Given the description of an element on the screen output the (x, y) to click on. 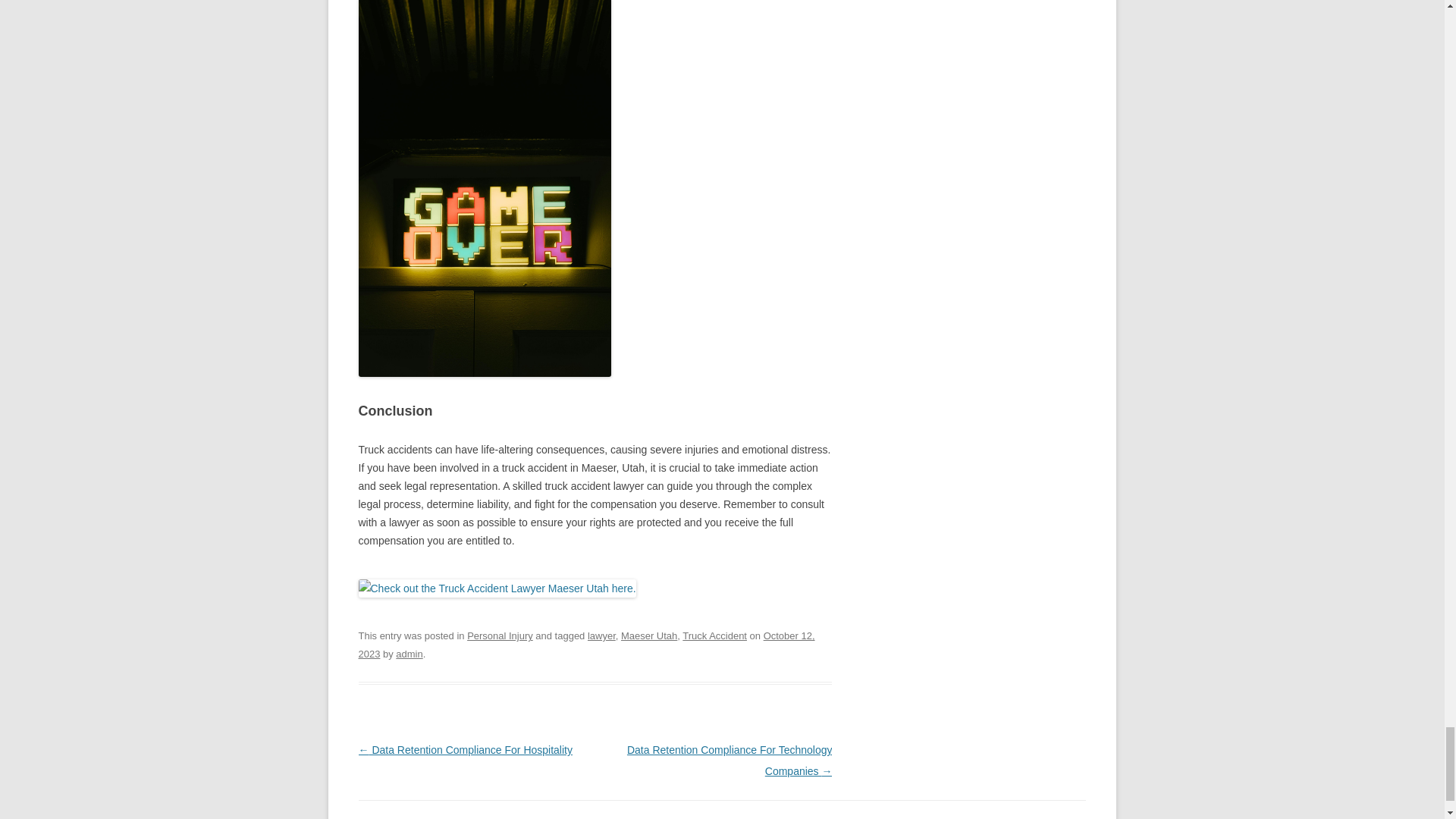
Check out the Truck Accident Lawyer Maeser Utah here. (496, 588)
Maeser Utah (649, 635)
lawyer (601, 635)
Check out the Truck Accident Lawyer Maeser Utah here. (496, 588)
View all posts by admin (409, 654)
admin (409, 654)
October 12, 2023 (585, 644)
2:52 am (585, 644)
Personal Injury (499, 635)
Truck Accident (714, 635)
